Given the description of an element on the screen output the (x, y) to click on. 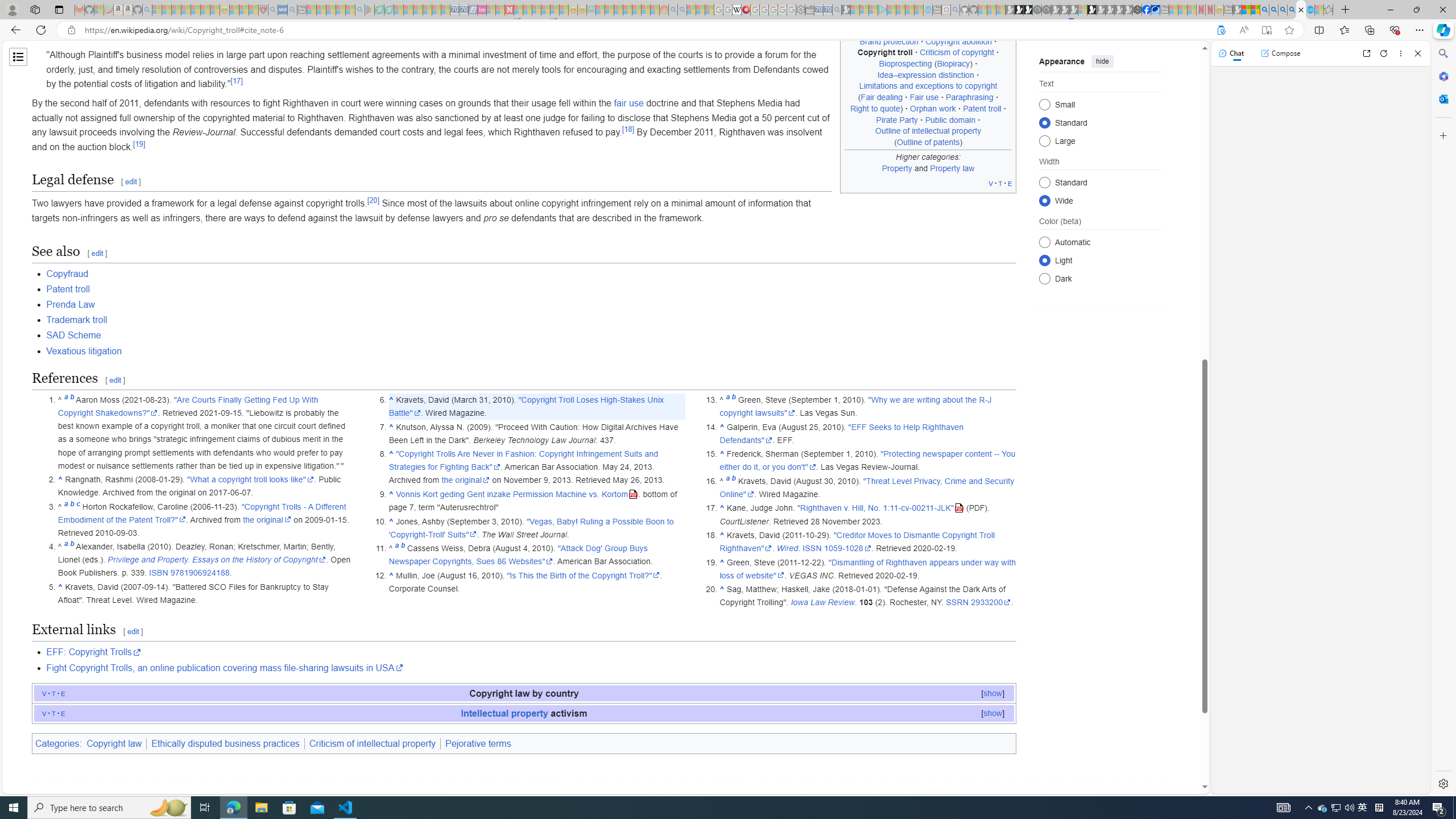
Enter Immersive Reader (F9) (1266, 29)
Trademark troll (76, 320)
Expert Portfolios - Sleeping (627, 9)
Settings - Sleeping (799, 9)
NCL Adult Asthma Inhaler Choice Guideline - Sleeping (282, 9)
Small (1044, 104)
Close tab (1300, 9)
Intellectual property (504, 712)
Restore (1416, 9)
